Given the description of an element on the screen output the (x, y) to click on. 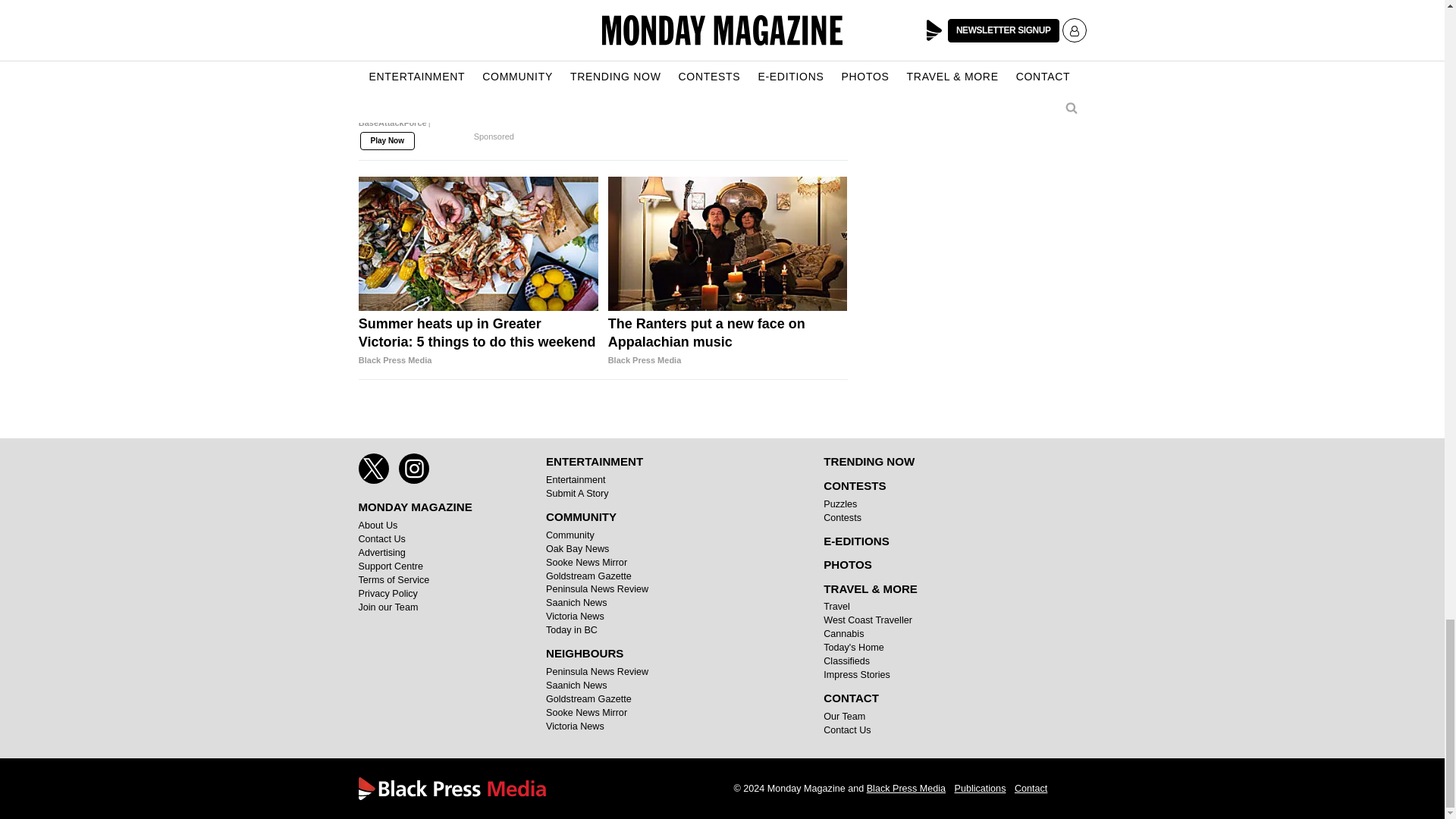
"Description: Play this game for free. No Installation." (436, 99)
